Given the description of an element on the screen output the (x, y) to click on. 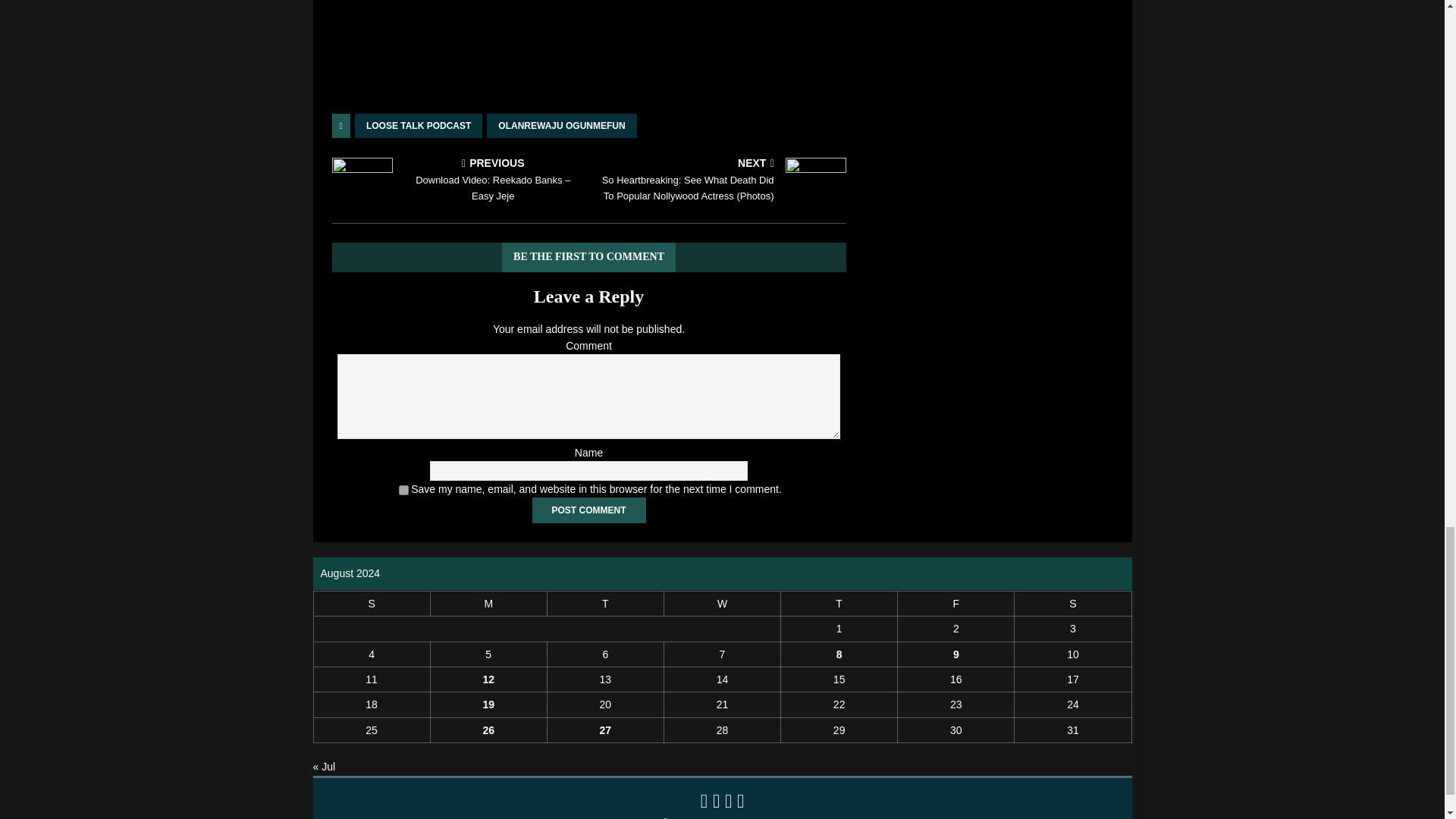
Tuesday (605, 602)
Post Comment (589, 510)
Saturday (1072, 602)
Wednesday (721, 602)
Sunday (371, 602)
Friday (956, 602)
Monday (488, 602)
Thursday (839, 602)
yes (403, 490)
